Given the description of an element on the screen output the (x, y) to click on. 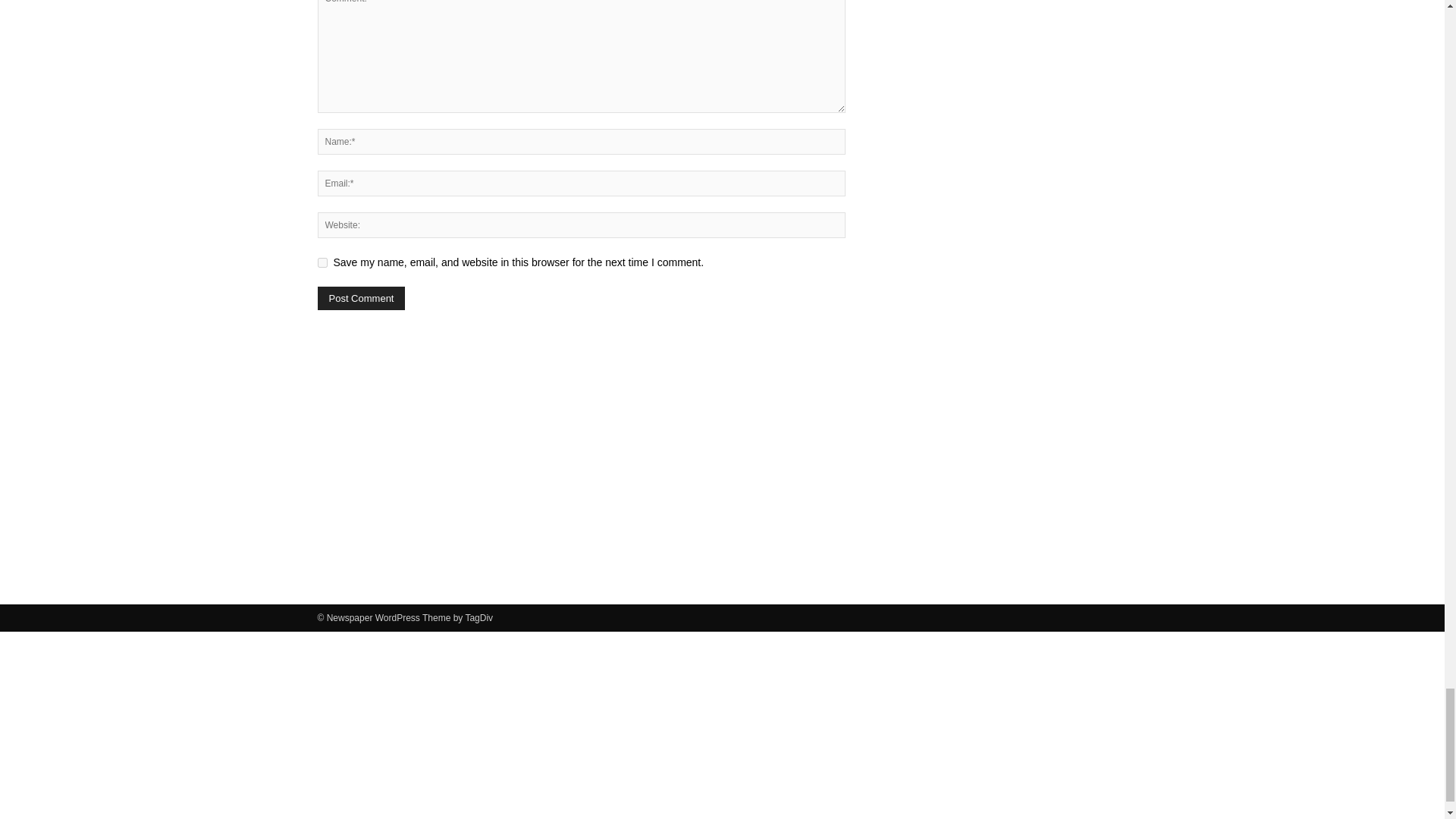
yes (321, 262)
Post Comment (360, 298)
